Given the description of an element on the screen output the (x, y) to click on. 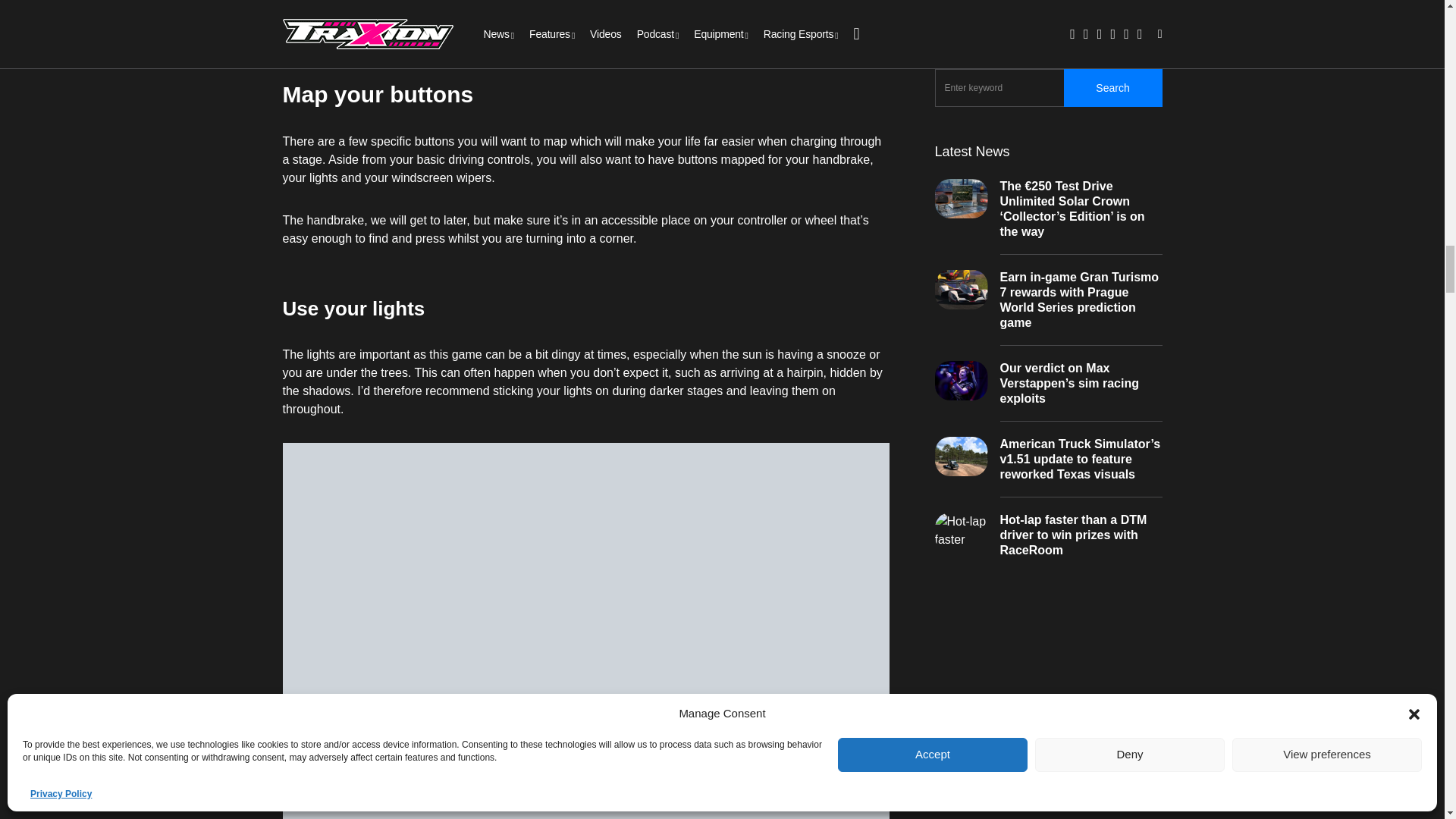
WRC 10 PURE GAMEPLAY! Sanremo, Anniversary Mode (585, 15)
